Given the description of an element on the screen output the (x, y) to click on. 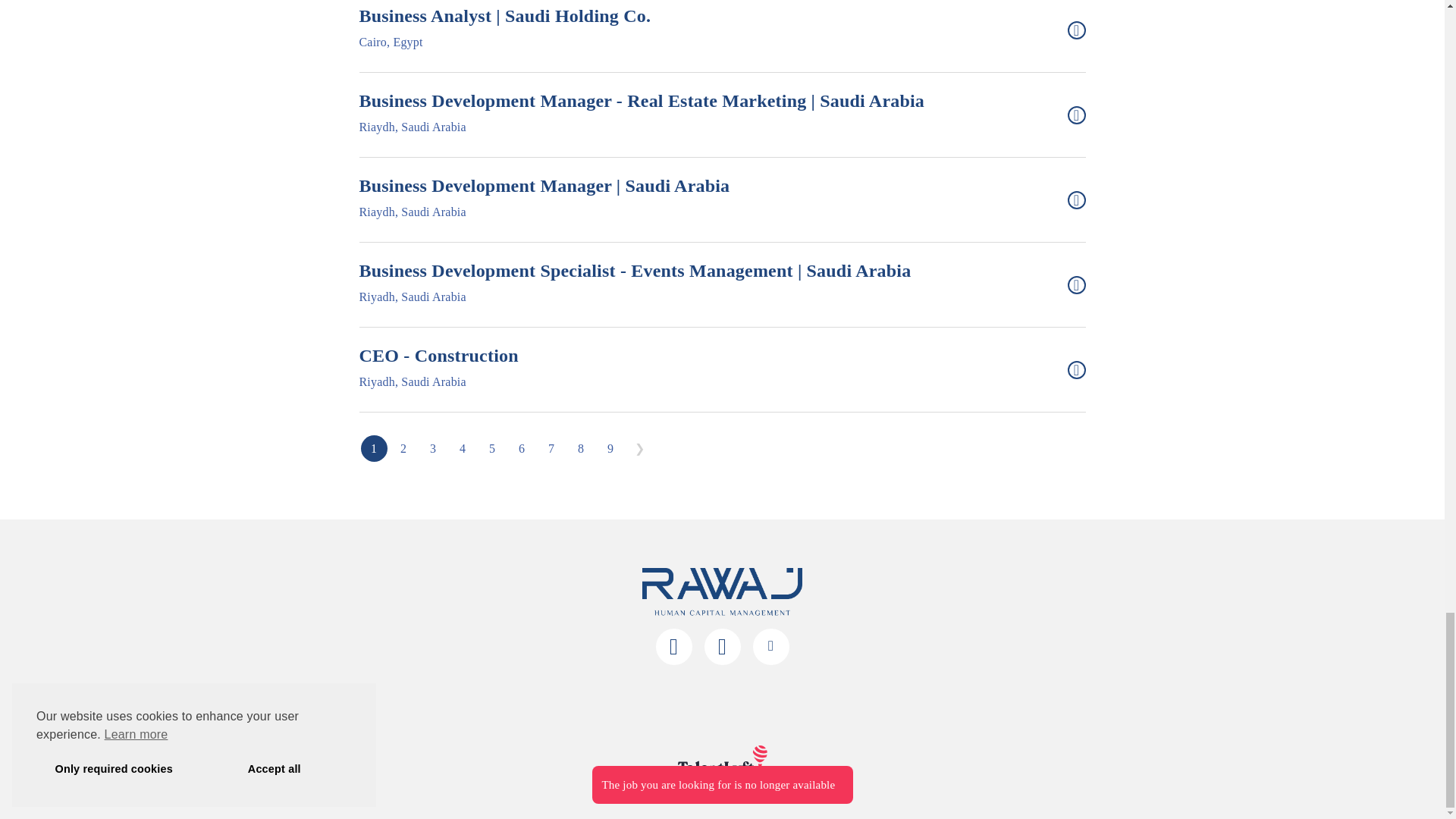
8 (580, 447)
1 (722, 369)
4 (374, 447)
7 (462, 447)
5 (551, 447)
6 (492, 447)
9 (521, 447)
3 (610, 447)
2 (433, 447)
